Given the description of an element on the screen output the (x, y) to click on. 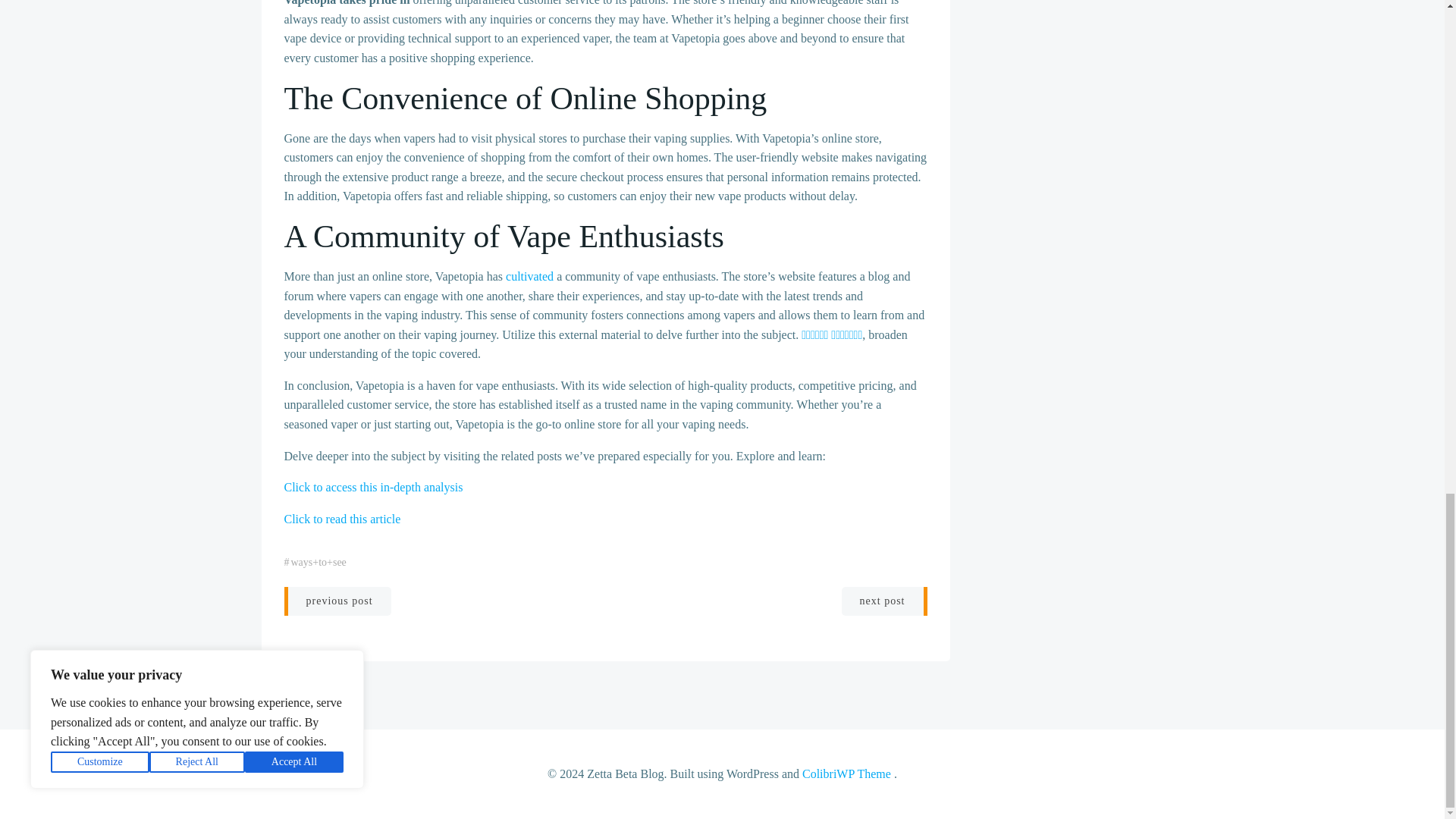
Click to access this in-depth analysis (373, 486)
Click to read this article (341, 518)
cultivated (529, 276)
previous post (336, 601)
next post (884, 601)
